Given the description of an element on the screen output the (x, y) to click on. 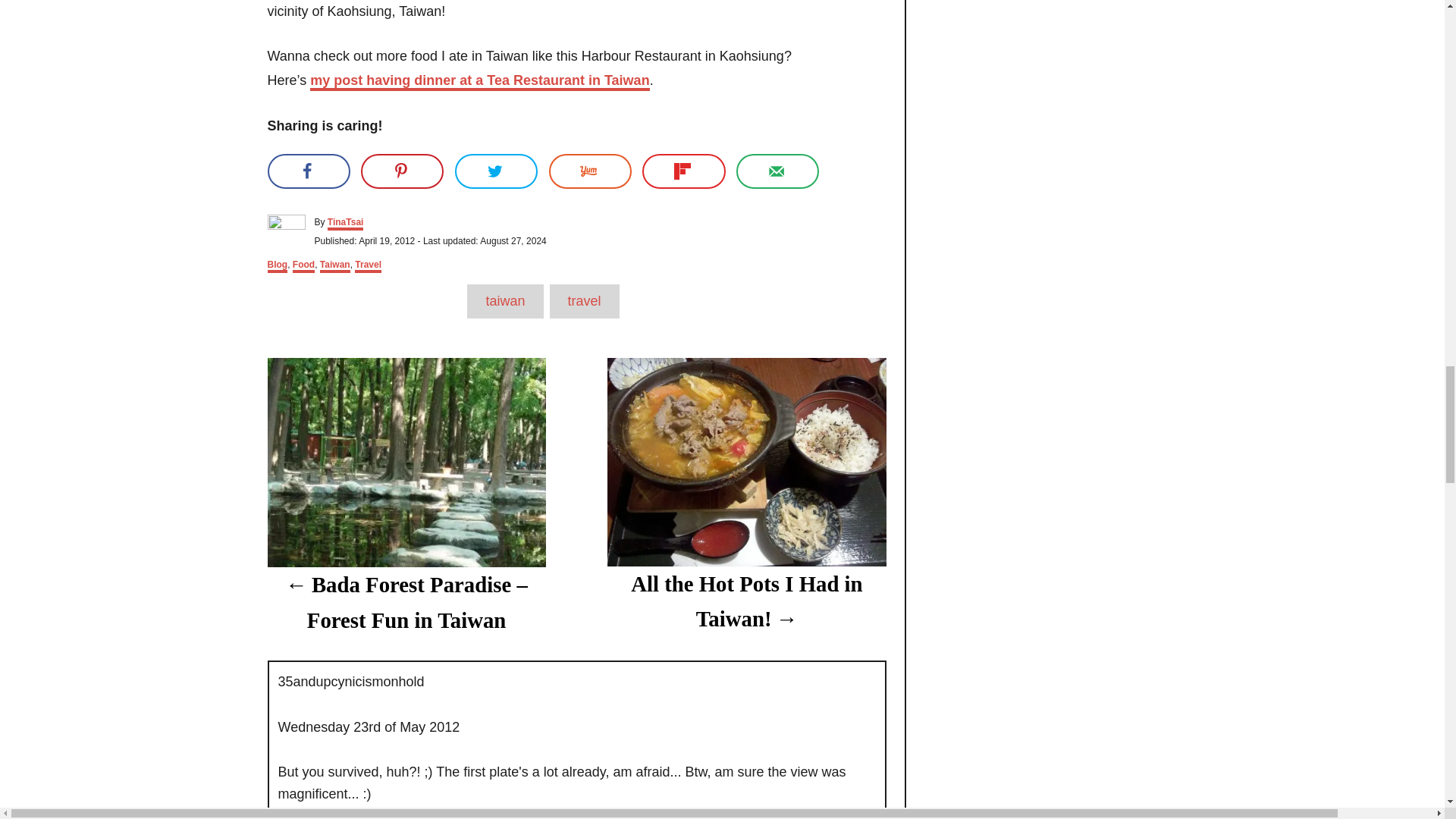
Send over email (777, 171)
Food (303, 265)
Taiwan (335, 265)
Share on Twitter (495, 171)
Blog (276, 265)
TinaTsai (345, 223)
my post having dinner at a Tea Restaurant in Taiwan (479, 81)
Travel (368, 265)
Share on Facebook (307, 171)
taiwan (505, 301)
